Given the description of an element on the screen output the (x, y) to click on. 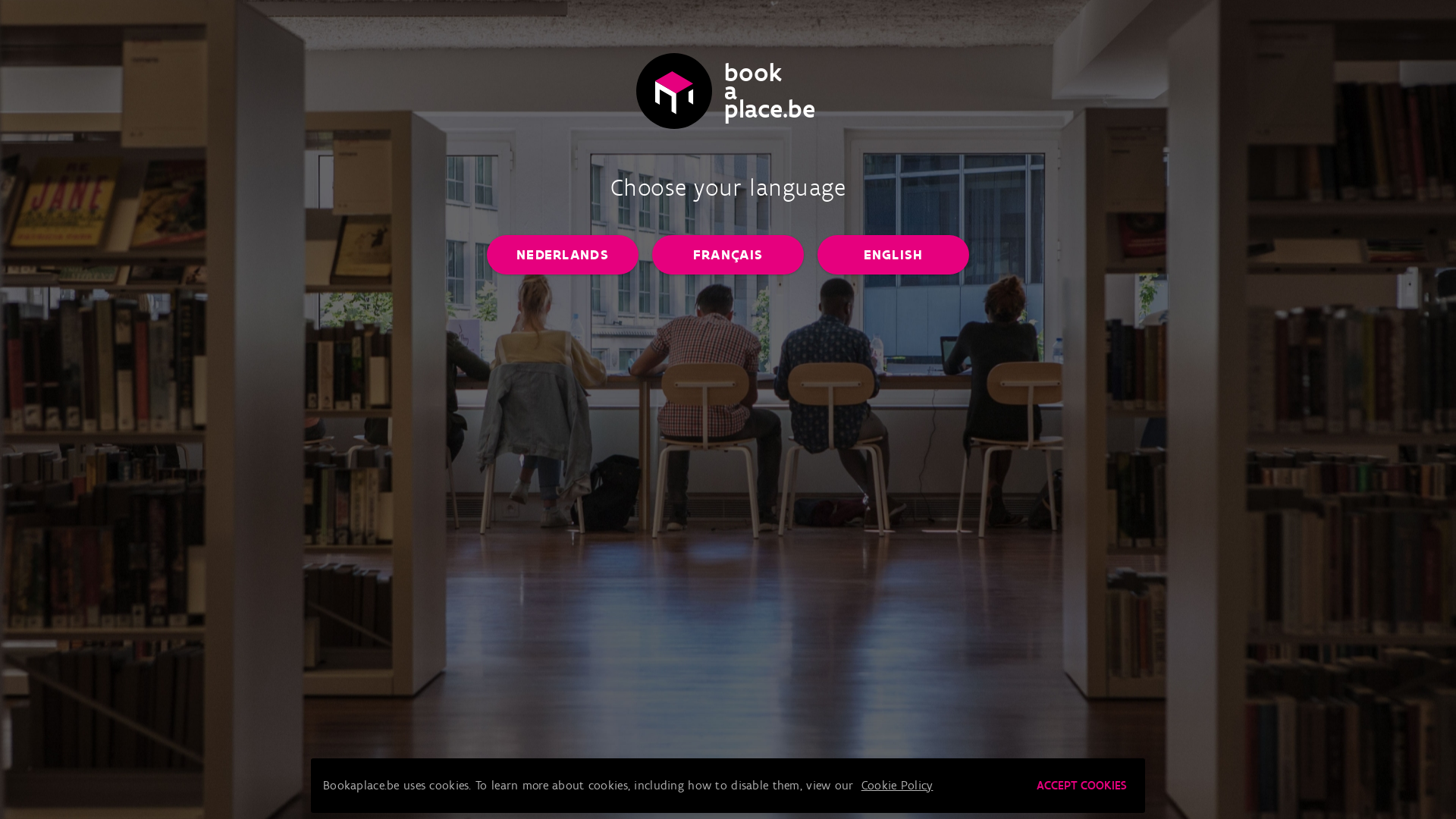
Cookie Policy Element type: text (897, 785)
NEDERLANDS Element type: text (562, 254)
ENGLISH Element type: text (893, 254)
ACCEPT COOKIES Element type: text (1081, 785)
